Given the description of an element on the screen output the (x, y) to click on. 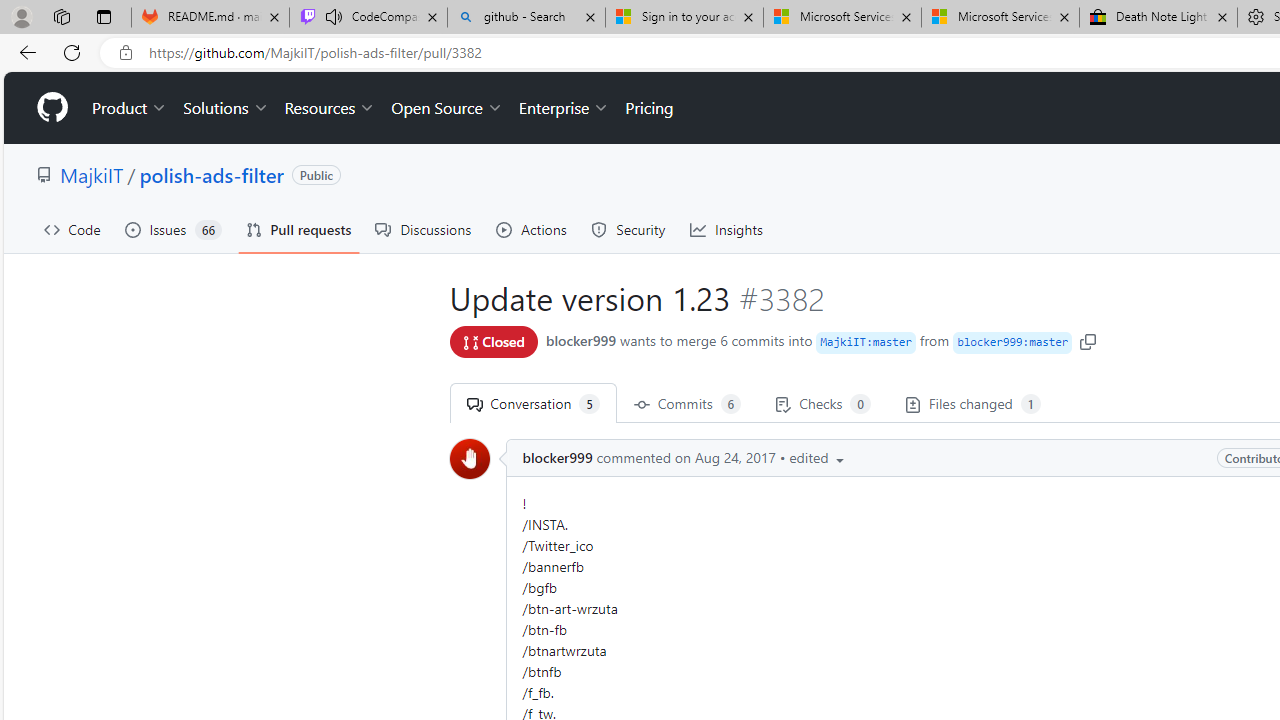
Discussions (424, 229)
MajkiIT (92, 174)
Enterprise (563, 107)
Enterprise (563, 107)
edited  (818, 457)
on Aug 24, 2017 (724, 457)
Solutions (225, 107)
Pull requests (298, 229)
Security (628, 229)
MajkiIT : master (865, 342)
Product (130, 107)
